Given the description of an element on the screen output the (x, y) to click on. 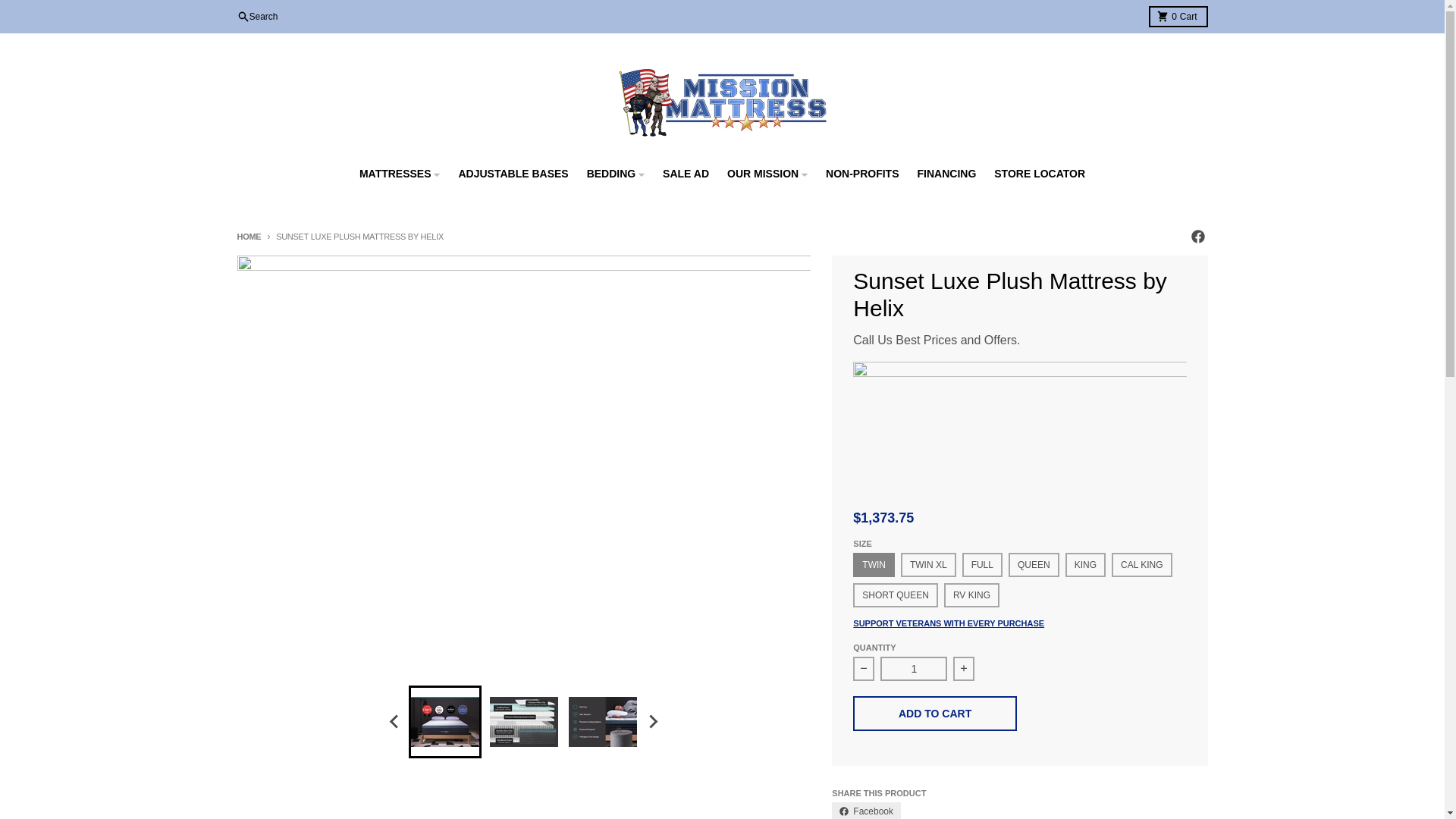
ADJUSTABLE BASES (512, 173)
Facebook - Mission Mattress (1197, 236)
SALE AD (685, 173)
Search (256, 16)
